Given the description of an element on the screen output the (x, y) to click on. 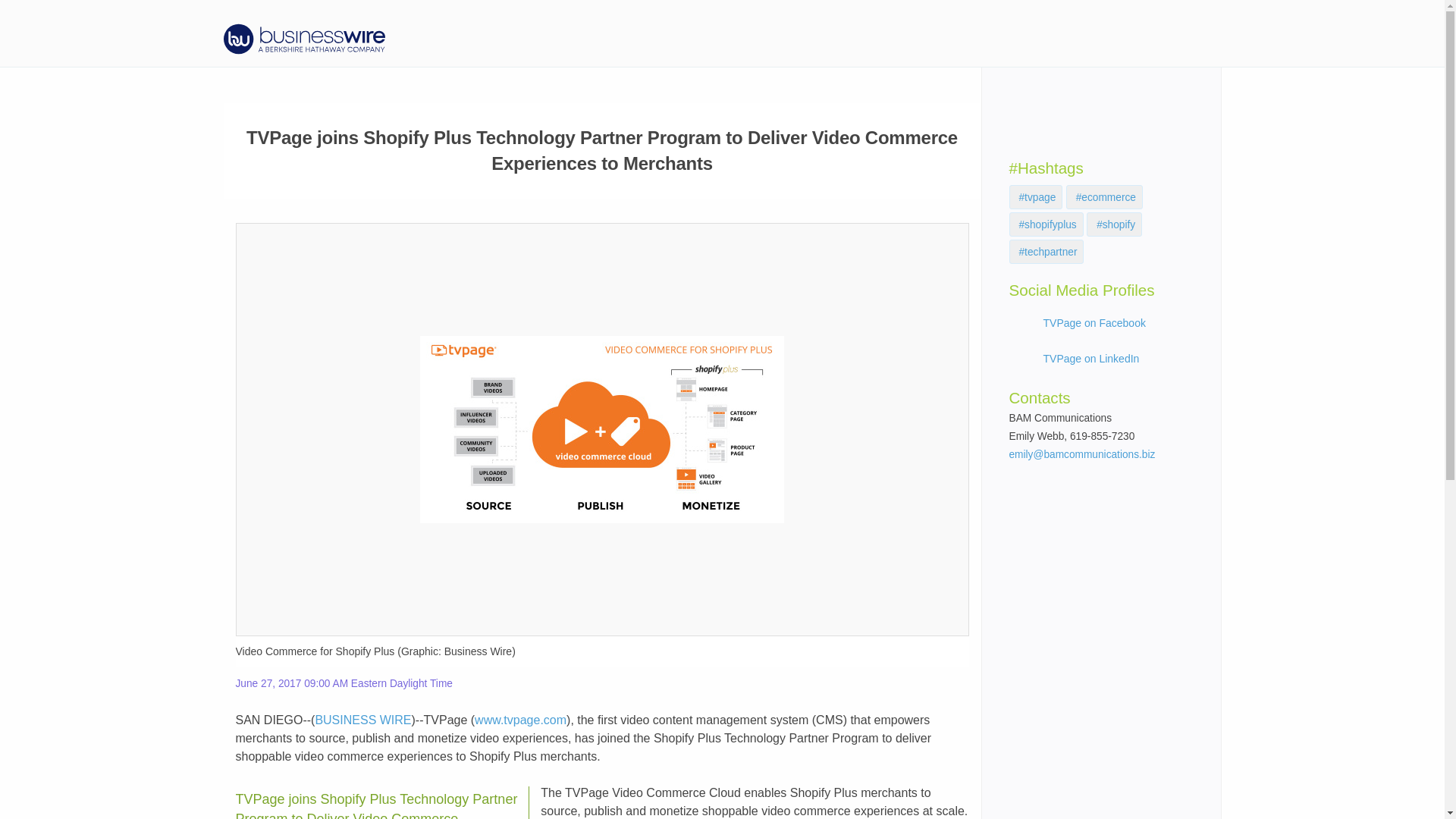
TVPage on LinkedIn (1091, 358)
TVPage on Facebook (1094, 322)
BUSINESS WIRE (362, 719)
www.tvpage.com (520, 719)
